Given the description of an element on the screen output the (x, y) to click on. 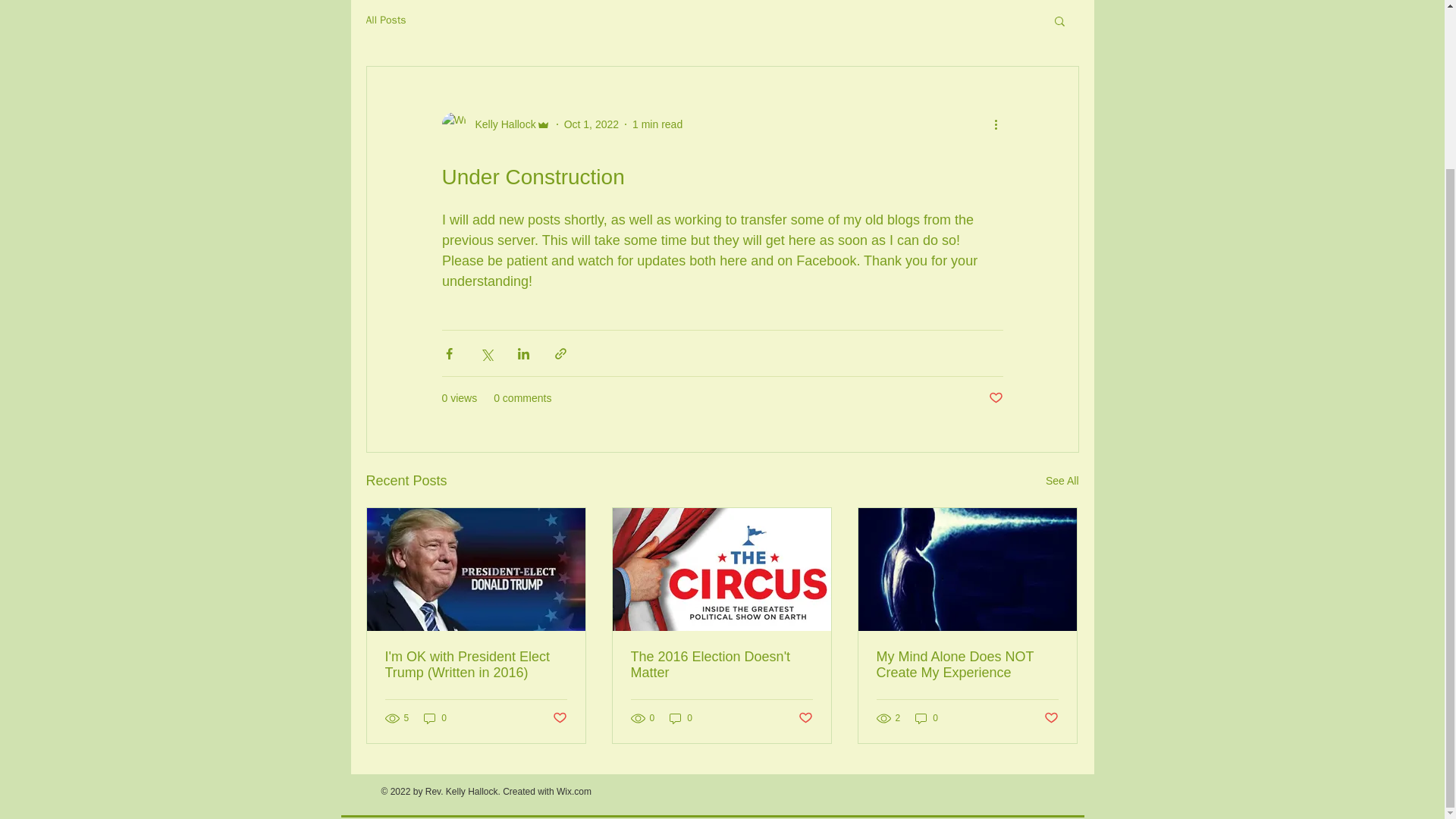
Kelly Hallock (500, 124)
See All (1061, 481)
Kelly Hallock (495, 124)
My Mind Alone Does NOT Create My Experience (967, 664)
0 (681, 718)
1 min read (656, 123)
Post not marked as liked (995, 398)
The 2016 Election Doesn't Matter (721, 664)
0 (435, 718)
Oct 1, 2022 (591, 123)
